Given the description of an element on the screen output the (x, y) to click on. 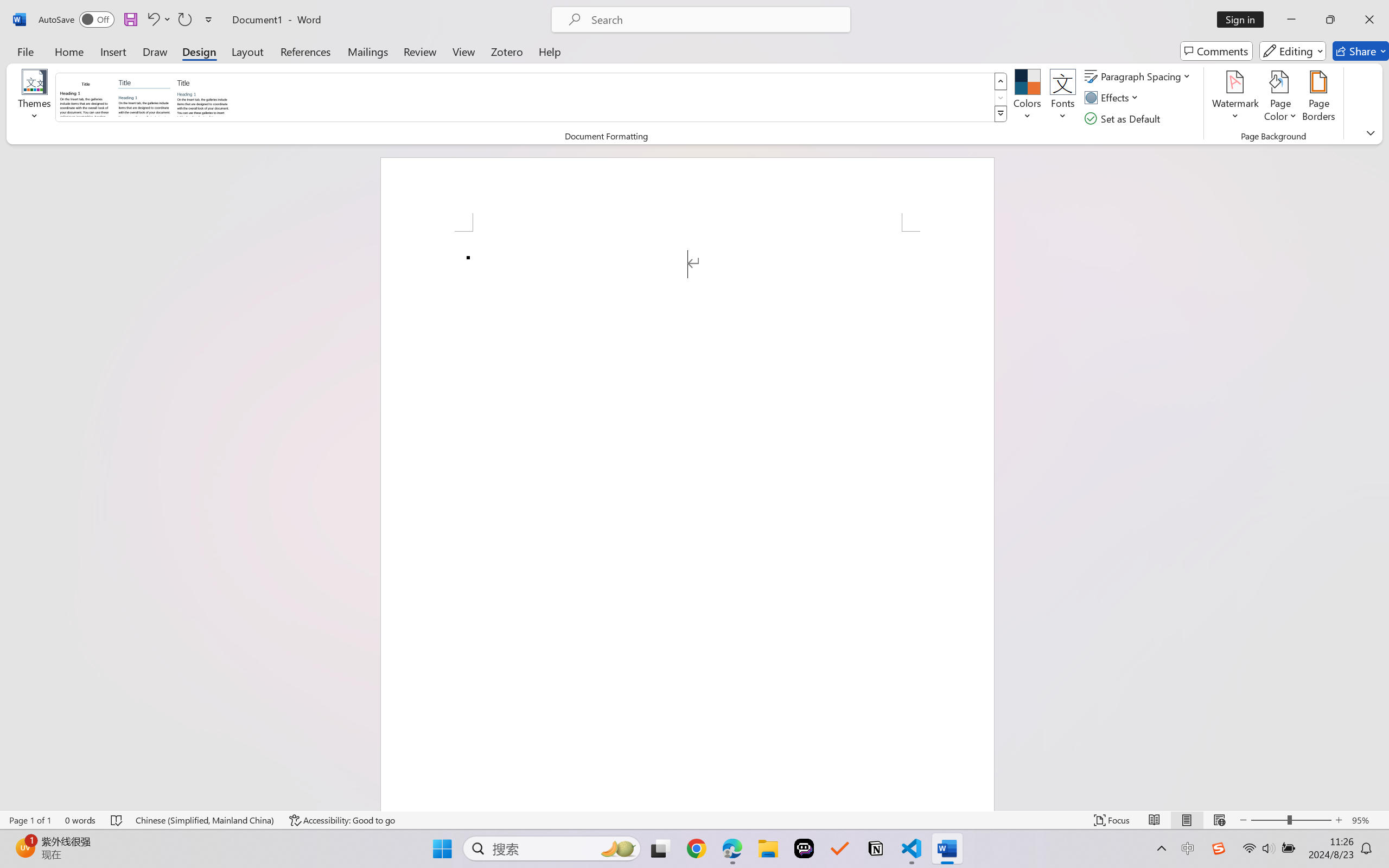
Fonts (1062, 97)
Undo Apply Quick Style Set (152, 19)
Set as Default (1124, 118)
Word 2003 (85, 96)
Watermark (1235, 97)
